Given the description of an element on the screen output the (x, y) to click on. 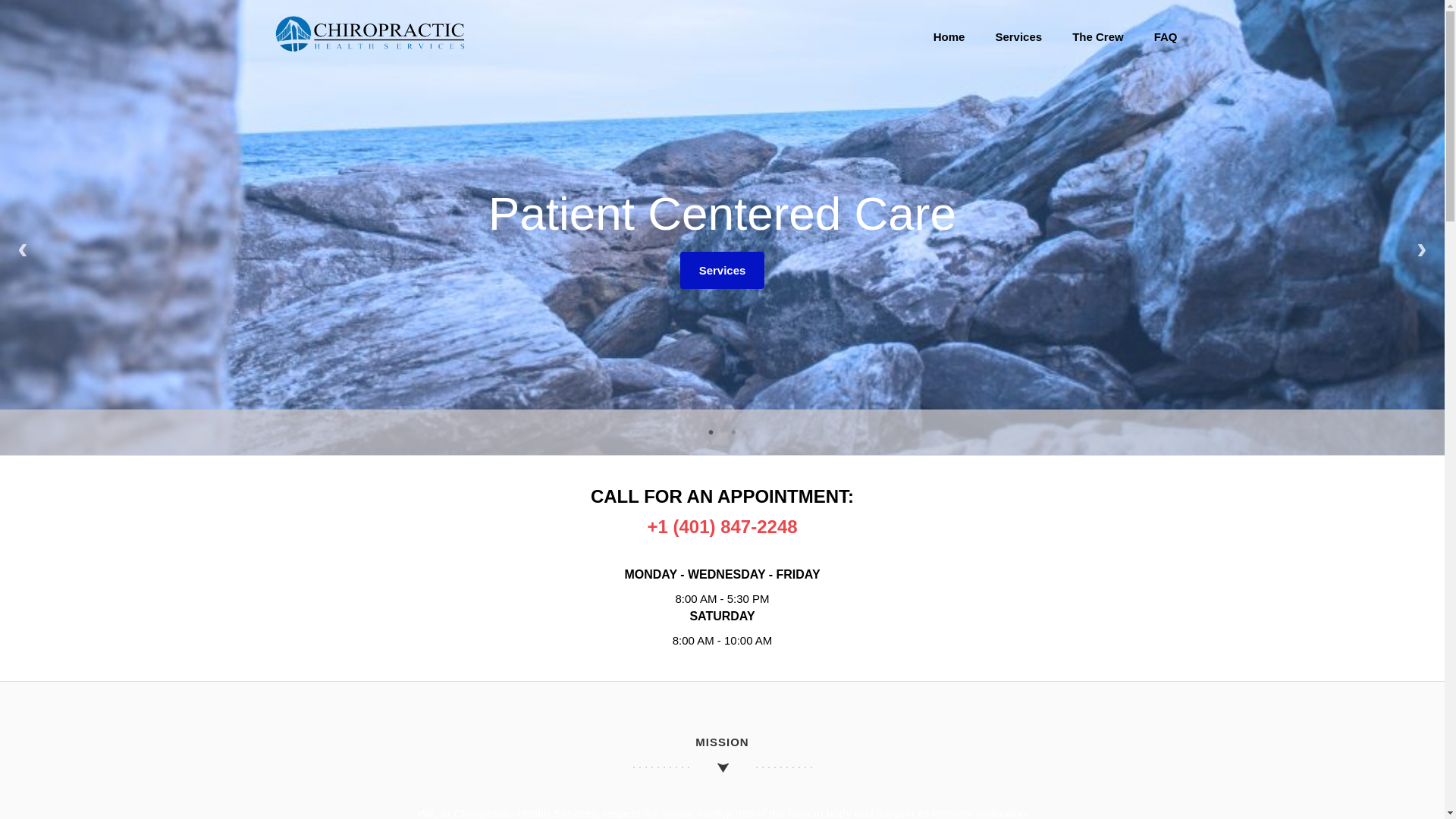
Home (948, 36)
Services (721, 269)
2 (733, 432)
1 (711, 432)
FAQ (1165, 36)
Services (1018, 36)
Previous (22, 249)
The Crew (1097, 36)
Chiropractic Health Services (369, 47)
Services (721, 264)
